Given the description of an element on the screen output the (x, y) to click on. 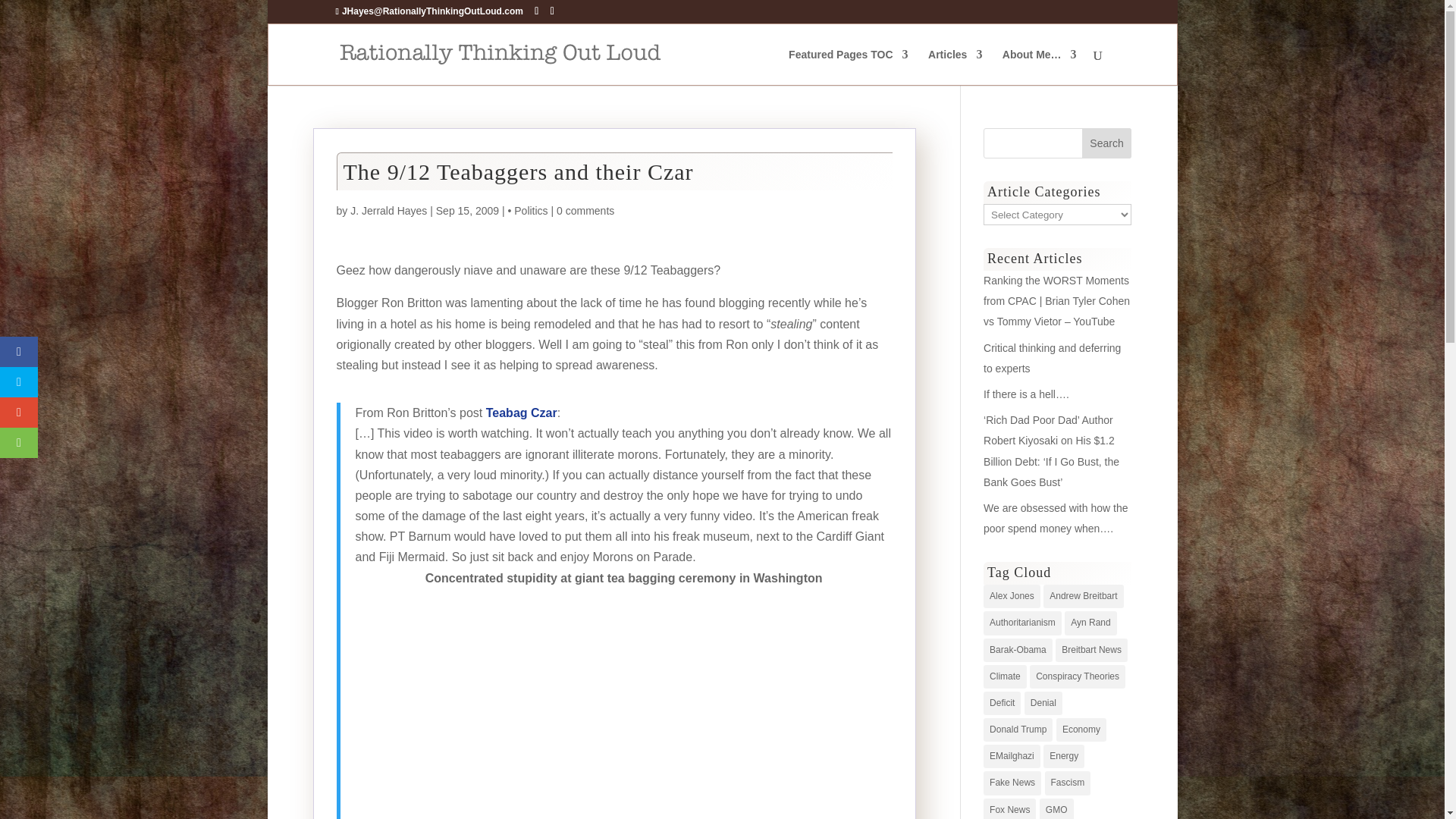
Posts by J. Jerrald Hayes (388, 210)
Search (1106, 142)
Articles (954, 67)
Featured Pages TOC (848, 67)
